Given the description of an element on the screen output the (x, y) to click on. 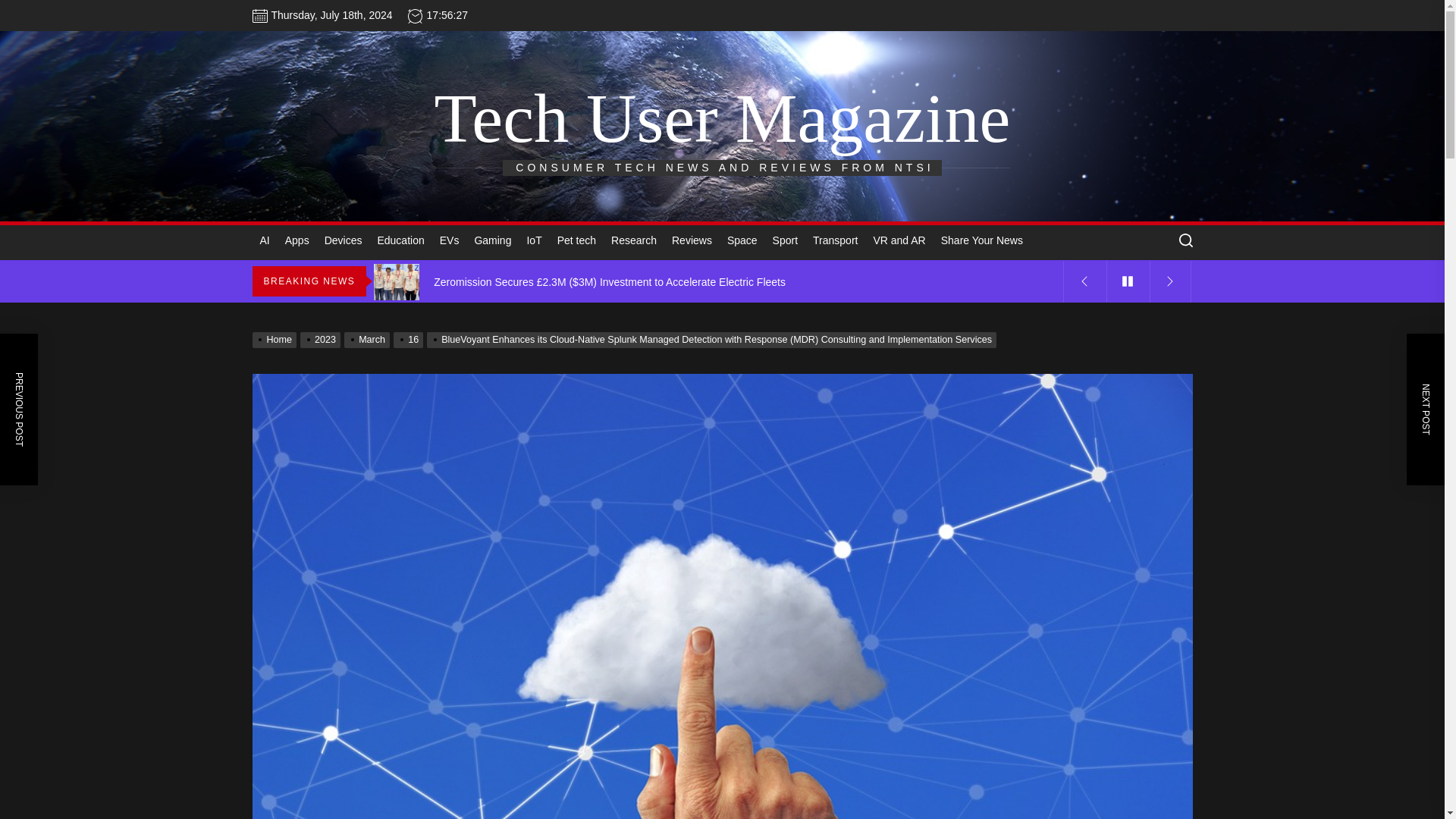
Gaming (491, 240)
Space (742, 240)
IoT (533, 240)
Research (633, 240)
Home (275, 339)
Reviews (691, 240)
Sport (785, 240)
Devices (343, 240)
2023 (321, 339)
Tech User Magazine (721, 117)
VR and AR (898, 240)
Share Your News (981, 240)
Pet tech (577, 240)
16 (409, 339)
Transport (834, 240)
